Given the description of an element on the screen output the (x, y) to click on. 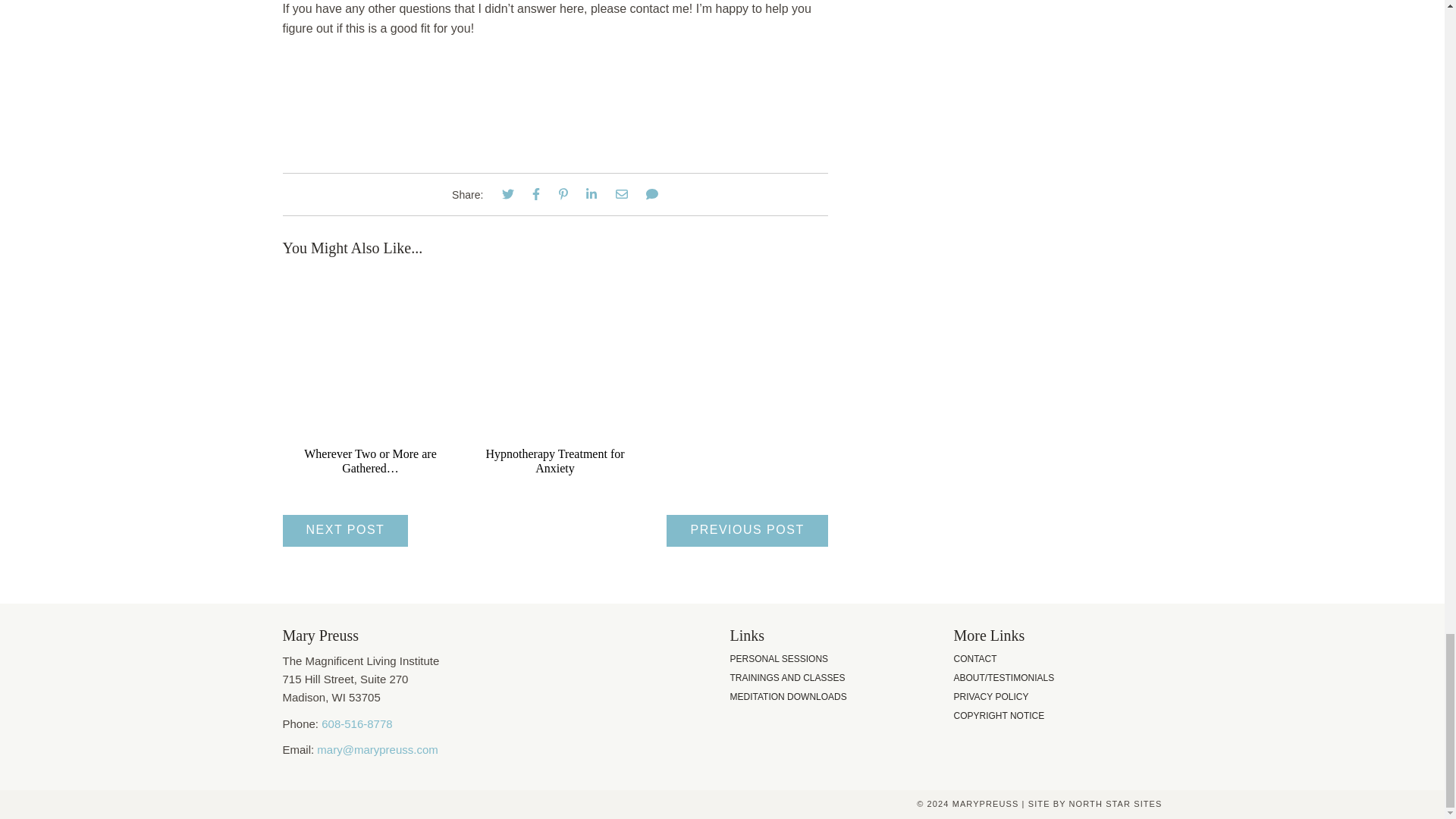
NEXT POST (344, 531)
Hypnotherapy Treatment for Anxiety (554, 461)
PREVIOUS POST (746, 531)
Hypnotherapy Treatment for Anxiety (554, 461)
Hypnotherapy Treatment for Anxiety (555, 436)
